Given the description of an element on the screen output the (x, y) to click on. 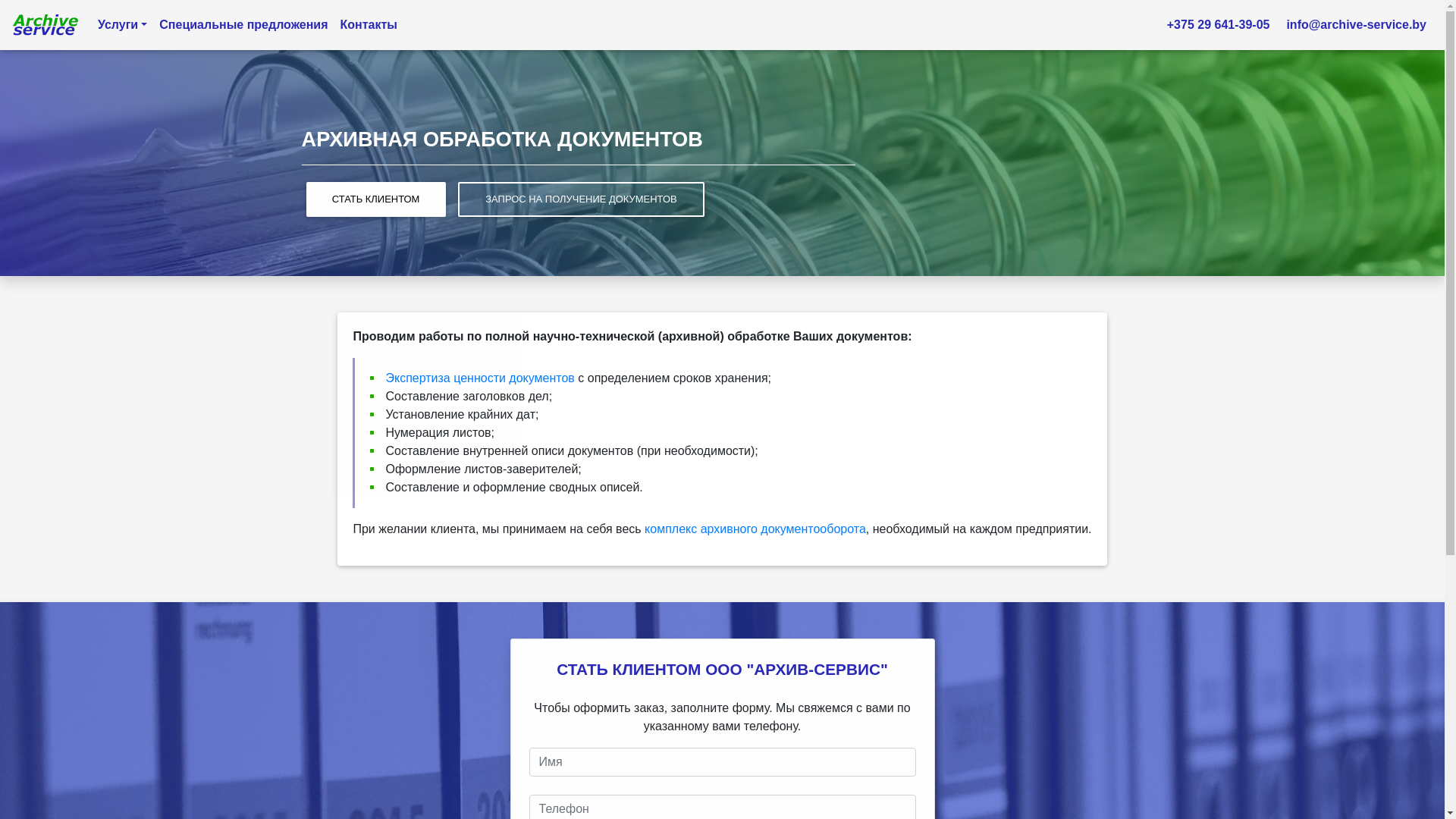
info@archive-service.by Element type: text (1353, 24)
+375 29 641-39-05 Element type: text (1216, 24)
